Given the description of an element on the screen output the (x, y) to click on. 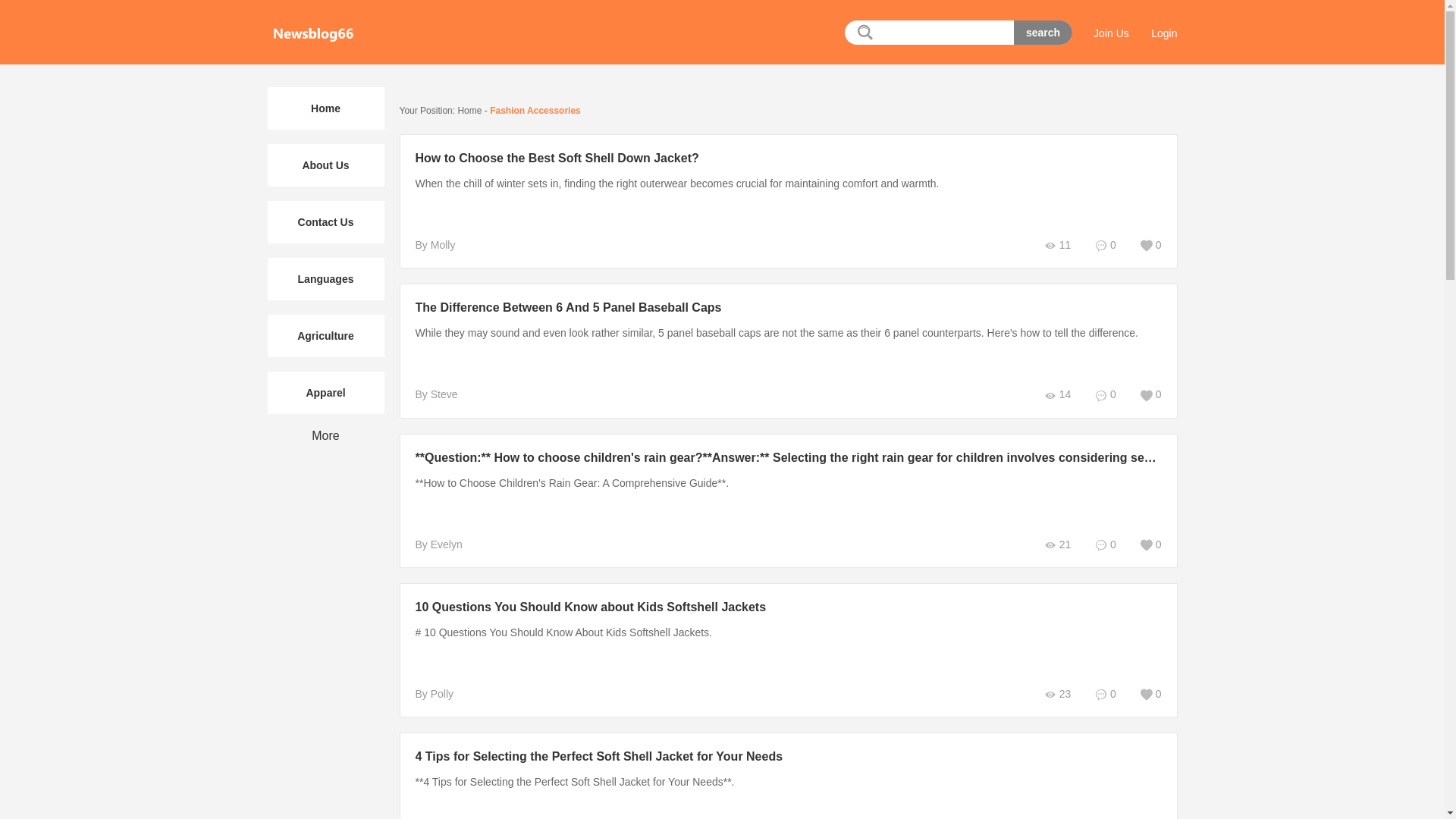
Home - newsblog66 (312, 34)
Login (1163, 33)
search (1042, 32)
search (1042, 32)
Join Us (1111, 33)
